Given the description of an element on the screen output the (x, y) to click on. 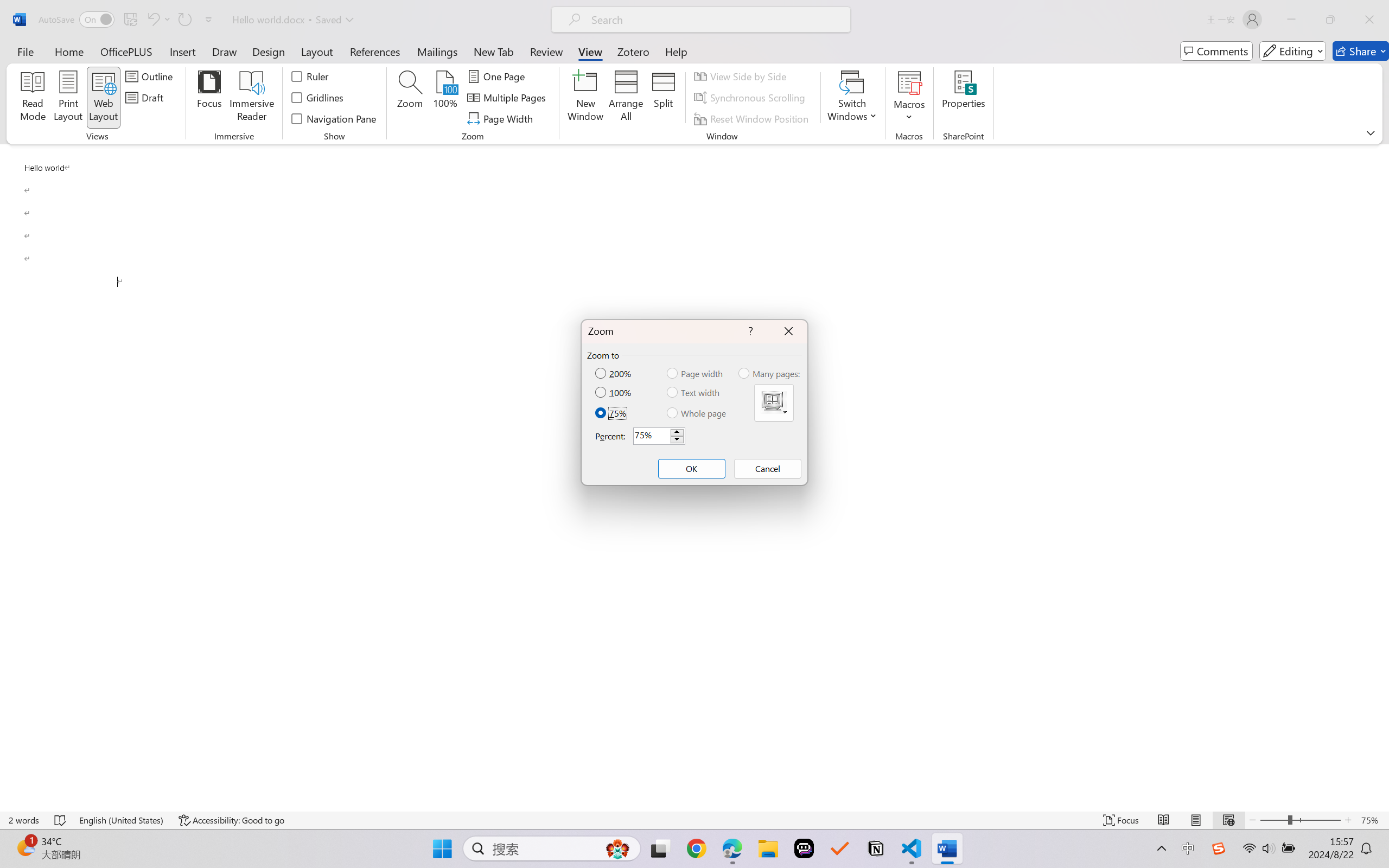
Properties (963, 97)
References (375, 51)
Undo Paragraph Formatting (158, 19)
Ruler (309, 75)
Close (1369, 19)
Microsoft search (715, 19)
Focus (209, 97)
Share (1360, 51)
Restore Down (1330, 19)
Notion (875, 848)
Google Chrome (696, 848)
